Given the description of an element on the screen output the (x, y) to click on. 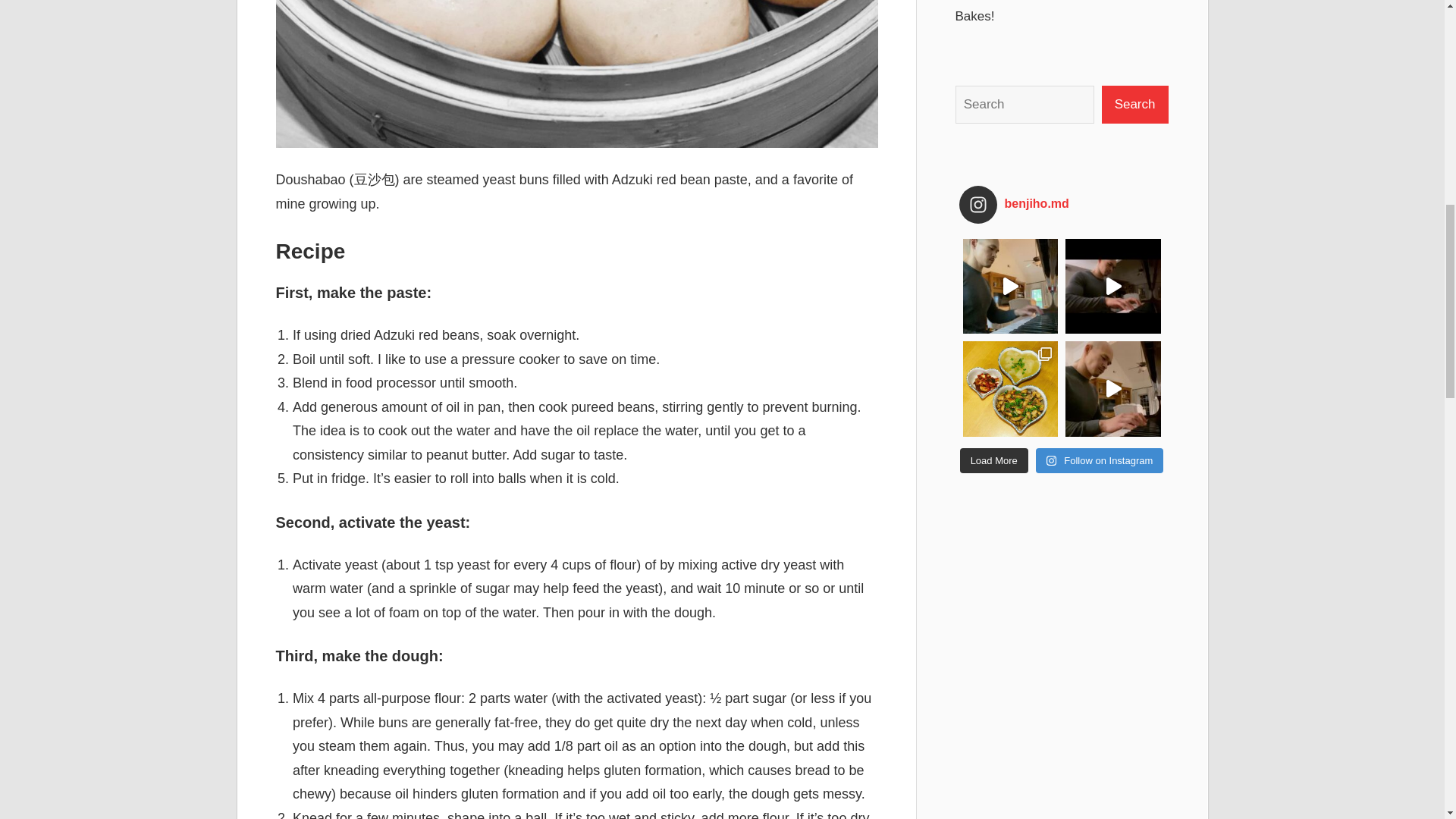
benjiho.md (1032, 204)
Follow on Instagram (1099, 460)
Search (1135, 104)
Load More (993, 460)
